Given the description of an element on the screen output the (x, y) to click on. 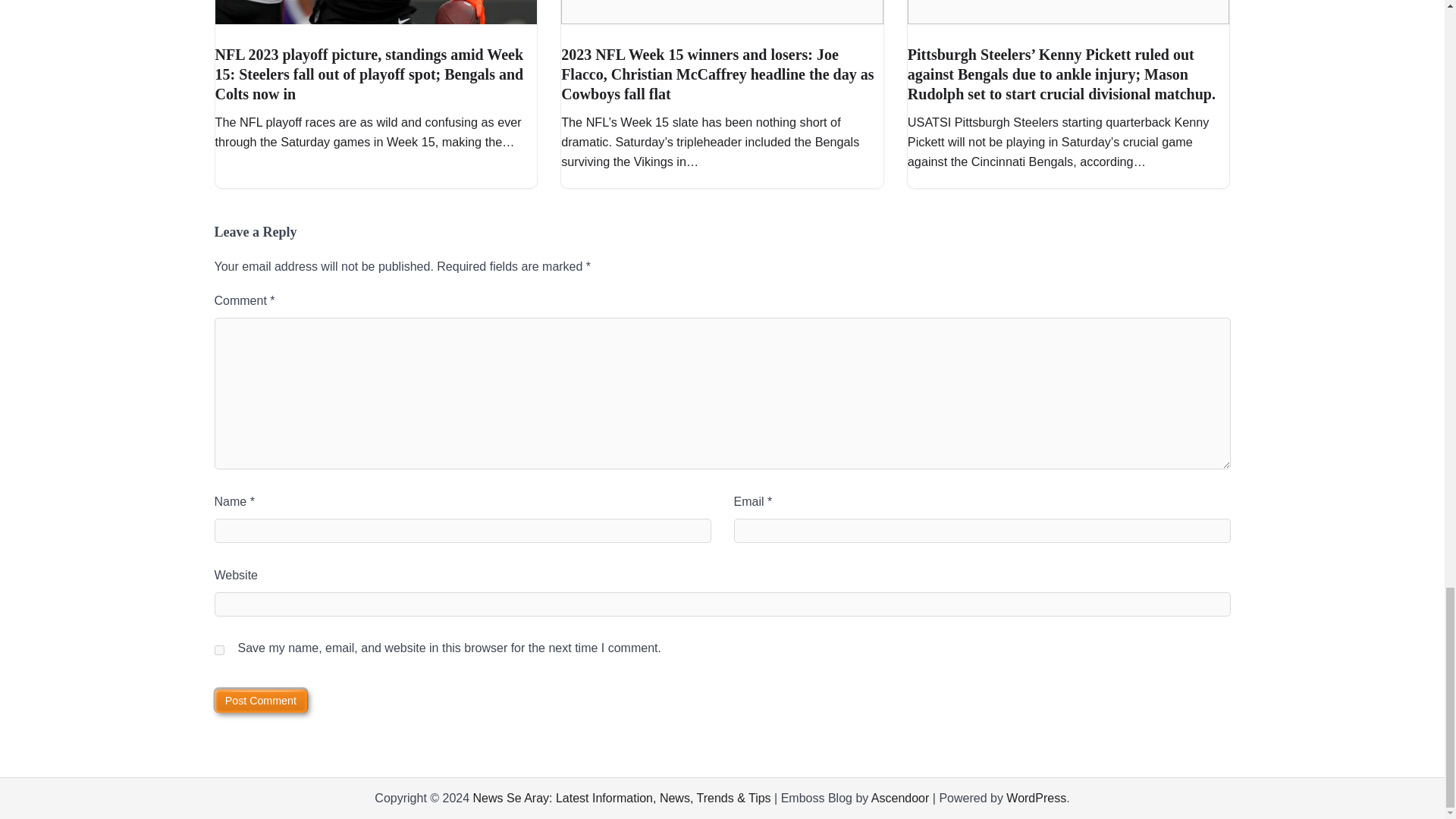
WordPress (1035, 797)
Ascendoor (900, 797)
Post Comment (260, 700)
Post Comment (260, 700)
yes (219, 650)
